Given the description of an element on the screen output the (x, y) to click on. 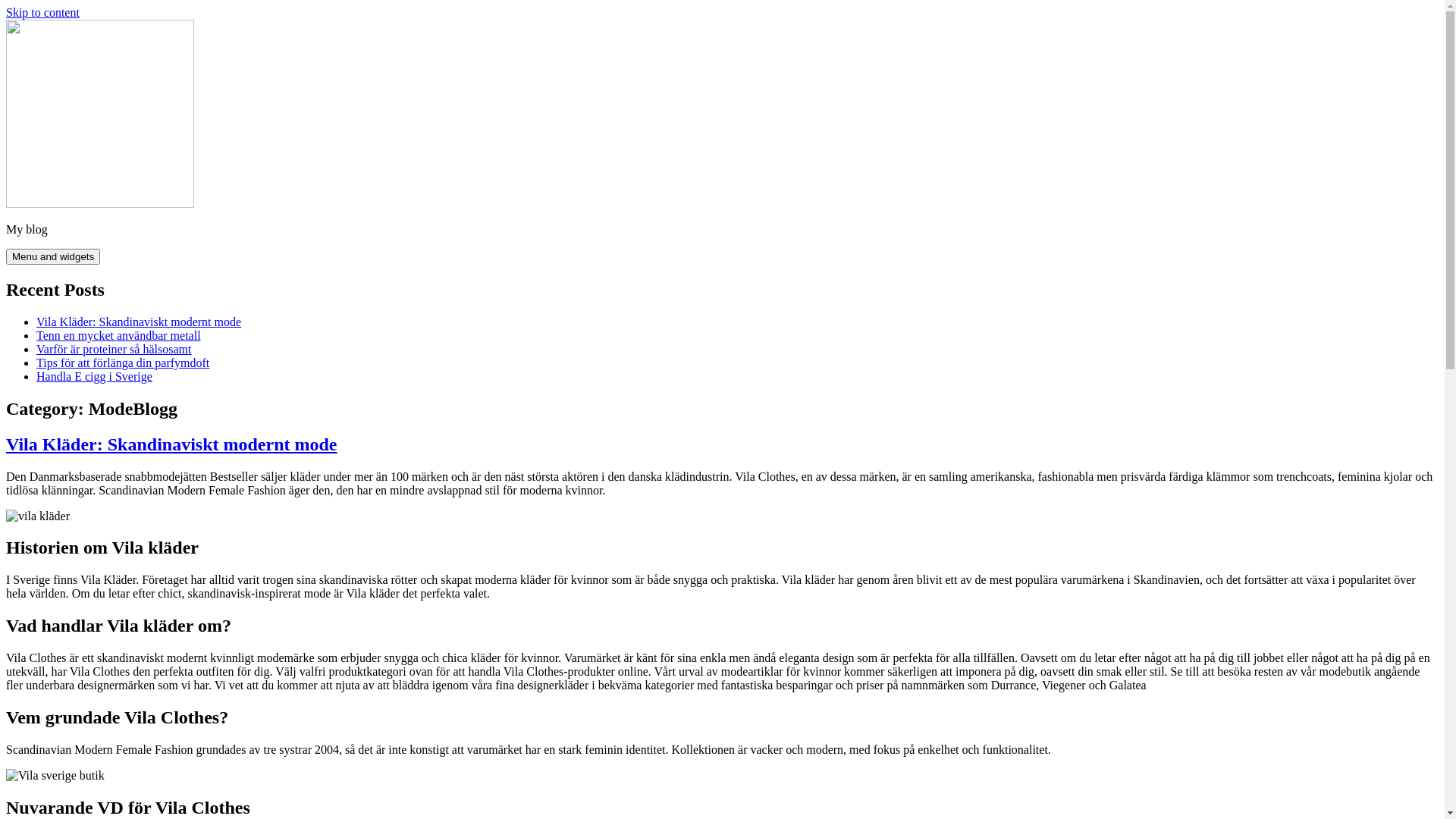
Menu and widgets Element type: text (53, 256)
Skip to content Element type: text (42, 12)
Handla E cigg i Sverige Element type: text (94, 376)
